Given the description of an element on the screen output the (x, y) to click on. 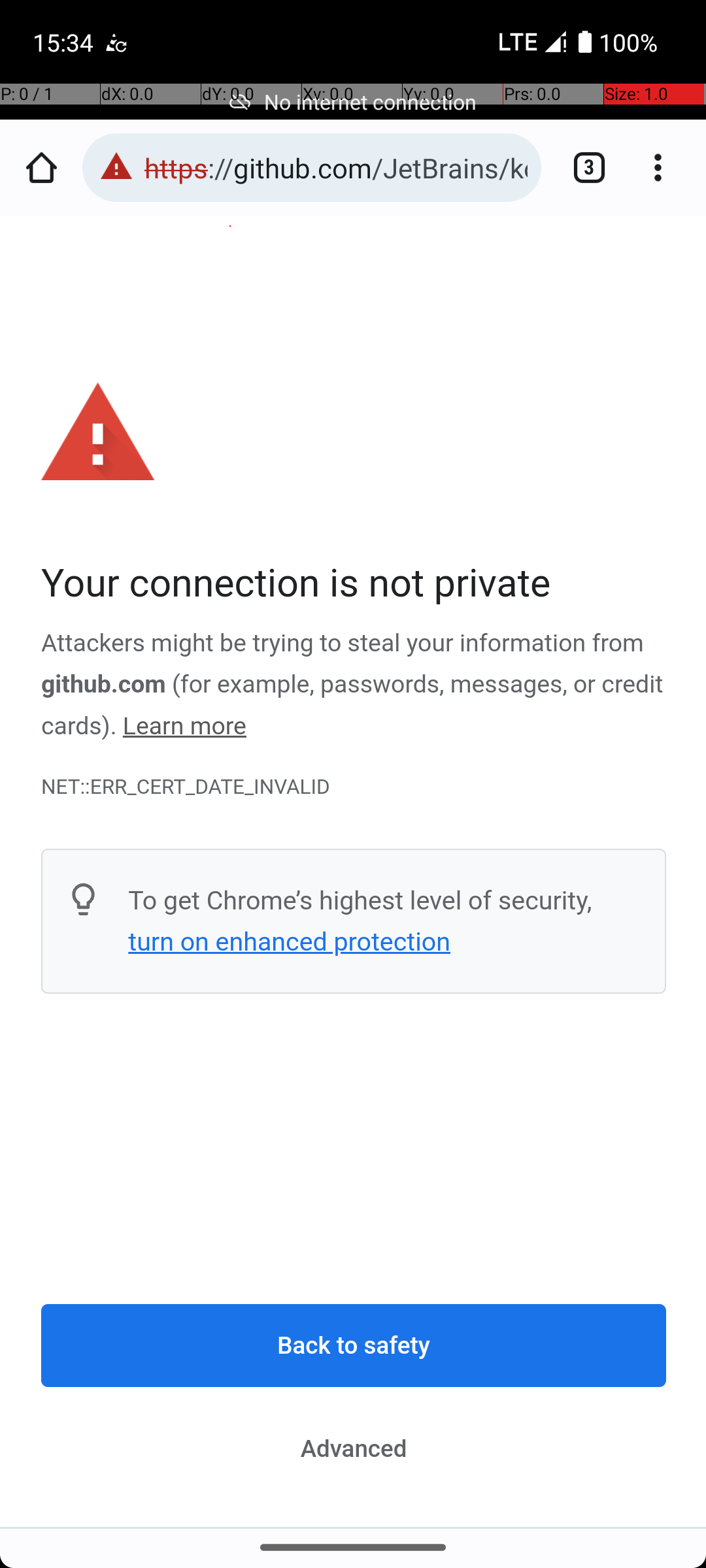
https://github.com/JetBrains/kotlin Element type: android.widget.EditText (335, 167)
